Given the description of an element on the screen output the (x, y) to click on. 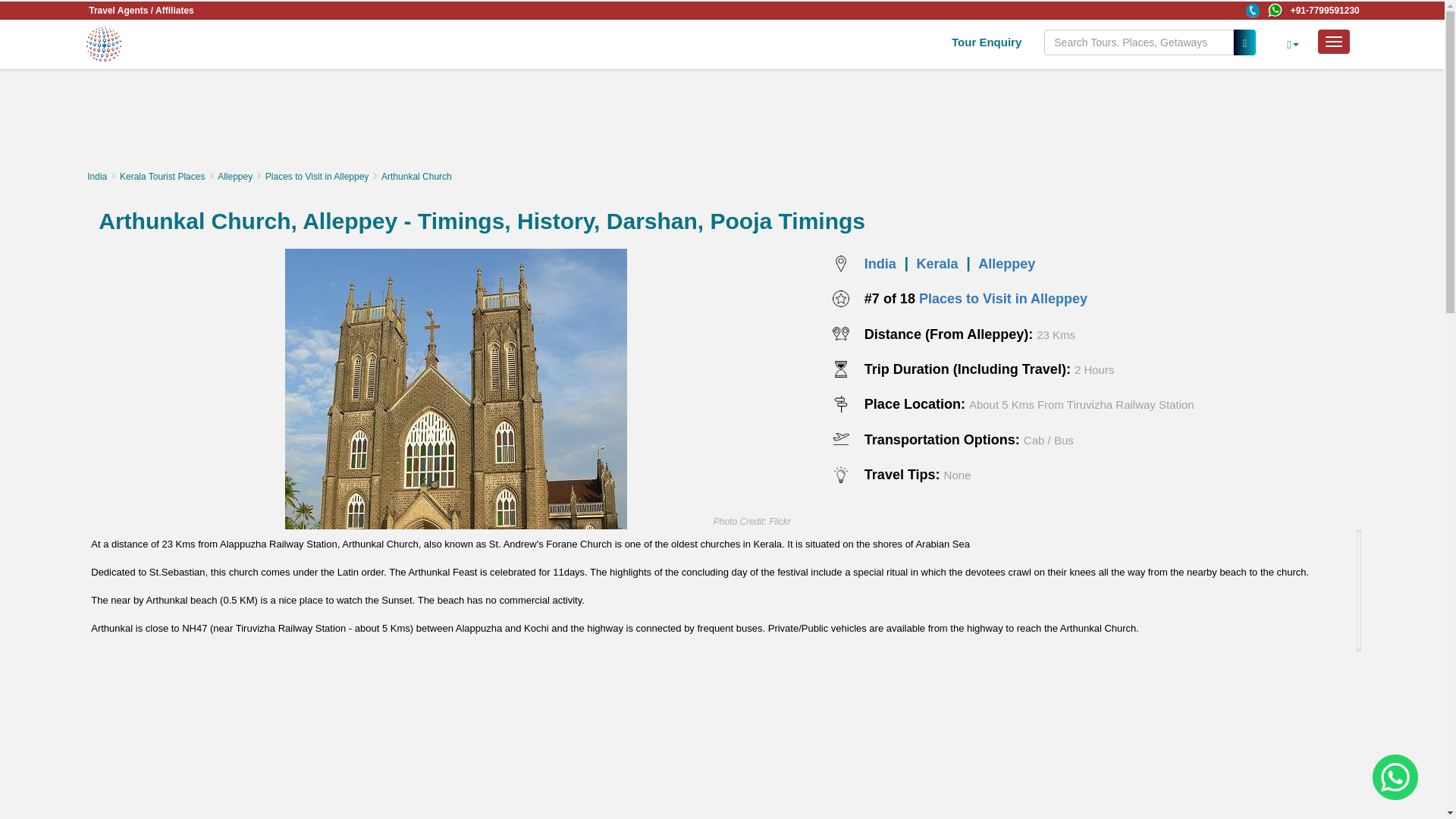
Tour Enquiry (986, 43)
Best Places to Visit in Alleppey (1006, 261)
Best Places to Visit in Kerala (937, 261)
Places to Visit in India (96, 176)
Advertisement (1035, 735)
Advertisement (721, 121)
Best Places to Visit in India (880, 261)
Arthunkal Church (456, 438)
